Given the description of an element on the screen output the (x, y) to click on. 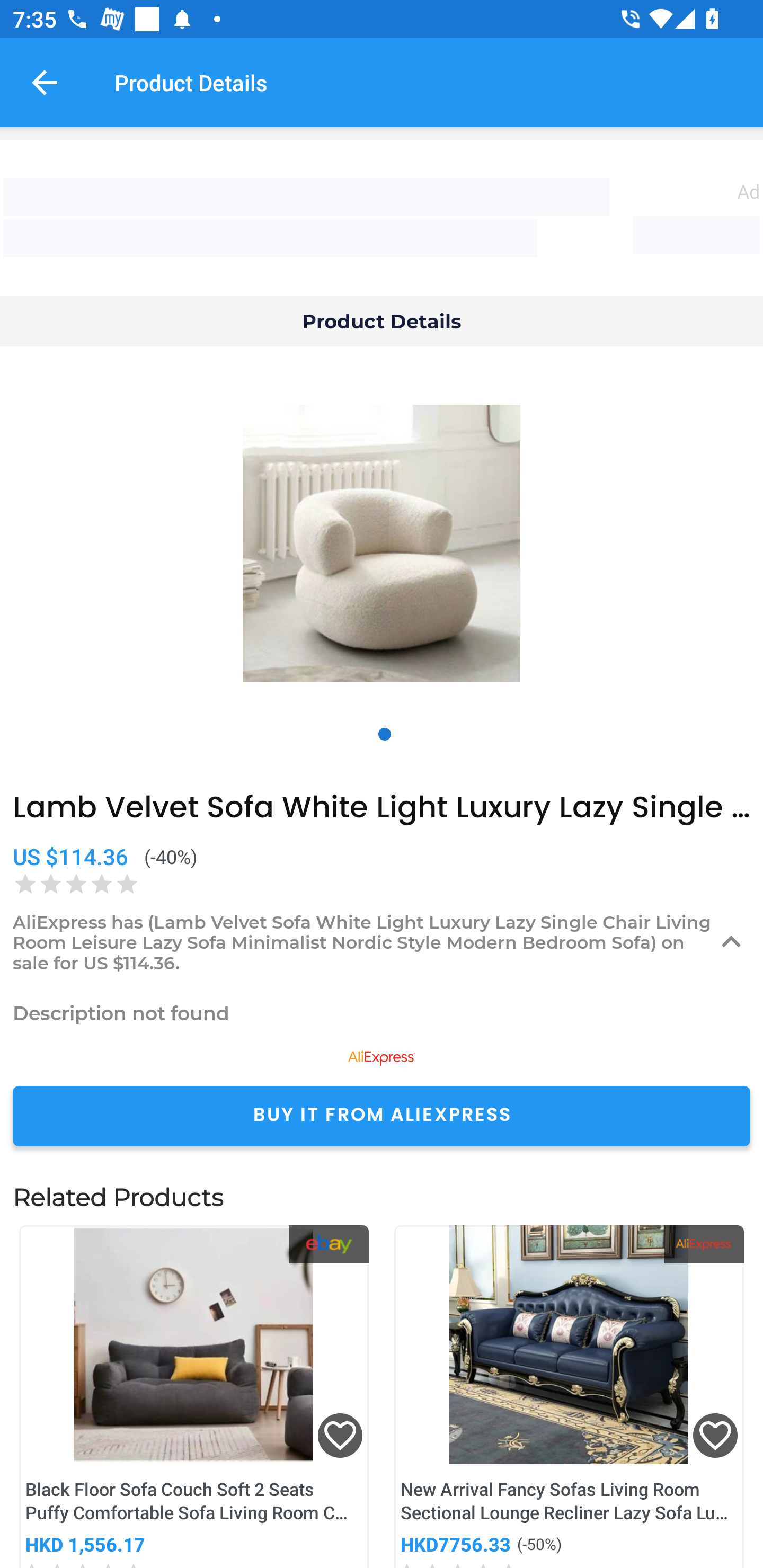
Navigate up (44, 82)
Description not found (381, 1012)
BUY IT FROM ALIEXPRESS (381, 1115)
